Given the description of an element on the screen output the (x, y) to click on. 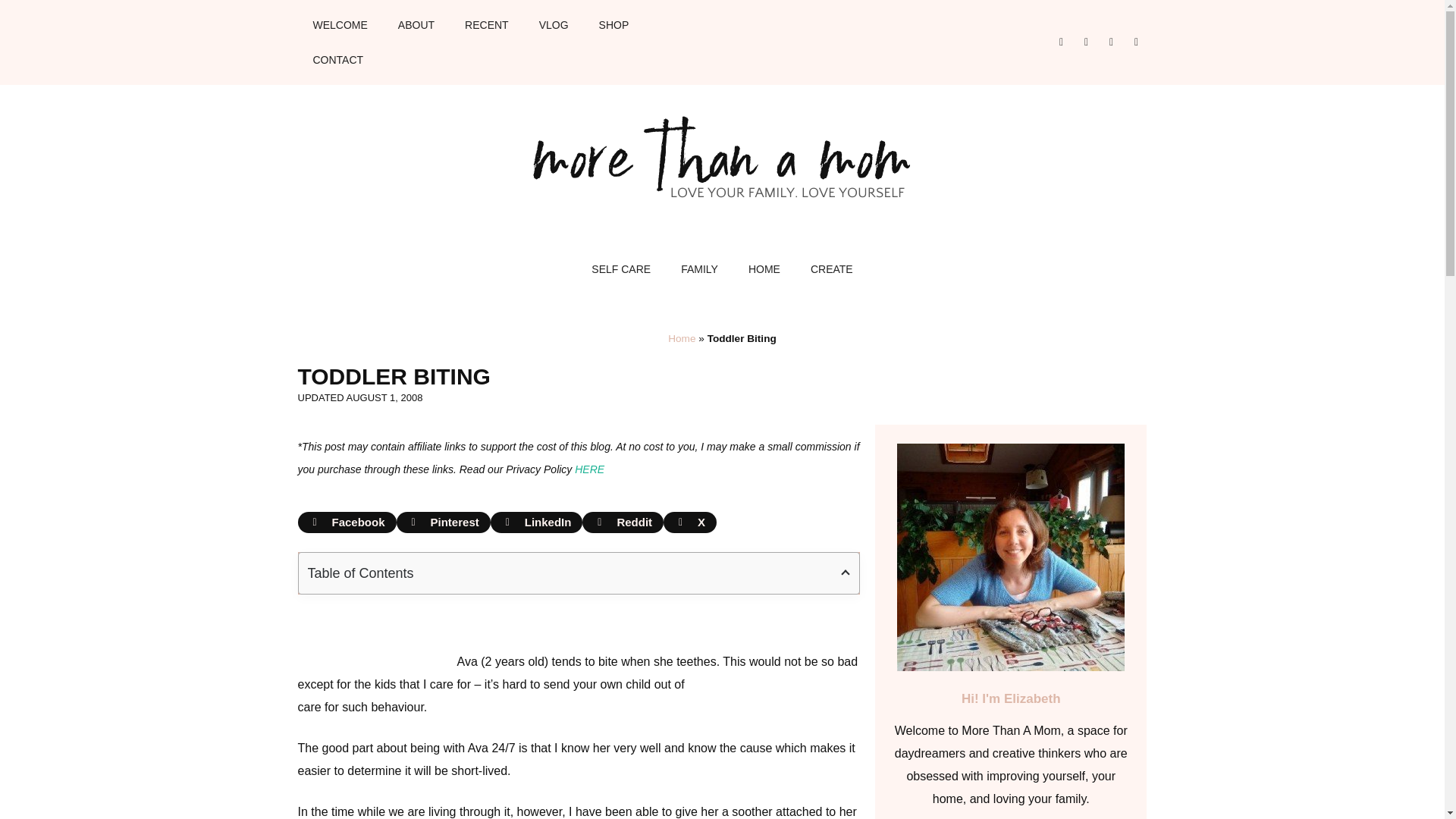
WELCOME (339, 24)
CONTACT (337, 59)
ABOUT (415, 24)
VLOG (553, 24)
RECENT (486, 24)
CREATE (830, 268)
HOME (763, 268)
SHOP (614, 24)
SELF CARE (620, 268)
FAMILY (699, 268)
